Given the description of an element on the screen output the (x, y) to click on. 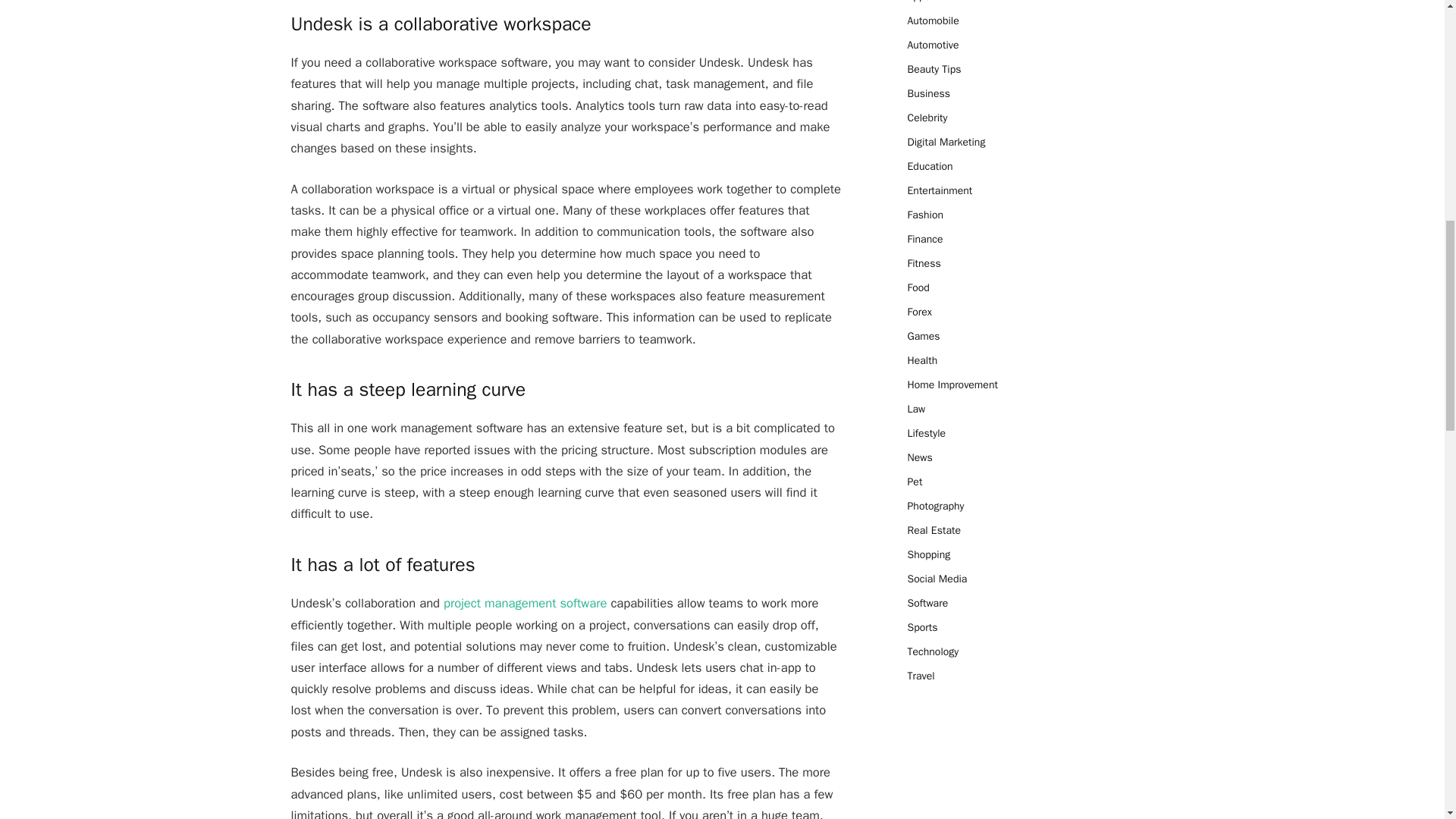
project management software (525, 602)
